Given the description of an element on the screen output the (x, y) to click on. 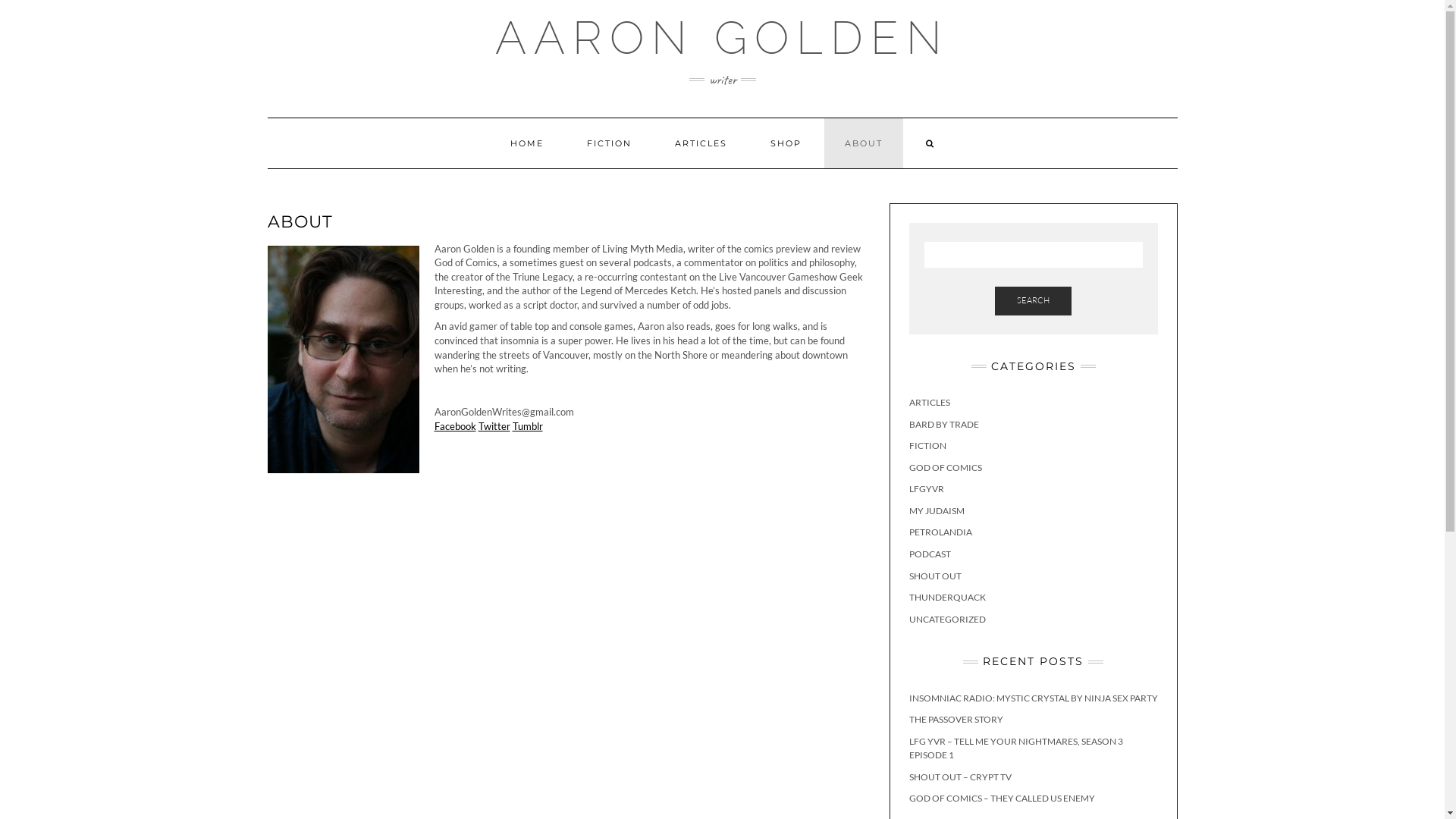
FICTION Element type: text (926, 445)
THE PASSOVER STORY Element type: text (955, 718)
THUNDERQUACK Element type: text (946, 596)
UNCATEGORIZED Element type: text (946, 618)
Tumblr Element type: text (527, 426)
INSOMNIAC RADIO: MYSTIC CRYSTAL BY NINJA SEX PARTY Element type: text (1032, 697)
ARTICLES Element type: text (699, 143)
Skip to content Element type: text (0, 0)
SHOUT OUT Element type: text (934, 575)
FICTION Element type: text (608, 143)
MY JUDAISM Element type: text (935, 510)
BARD BY TRADE Element type: text (943, 423)
Facebook Element type: text (454, 426)
HOME Element type: text (526, 143)
SEARCH Element type: text (1032, 300)
ARTICLES Element type: text (928, 401)
AARON GOLDEN Element type: text (722, 37)
ABOUT Element type: text (862, 143)
SHOP Element type: text (785, 143)
PODCAST Element type: text (929, 553)
LFGYVR Element type: text (925, 488)
GOD OF COMICS Element type: text (944, 467)
Twitter Element type: text (493, 426)
PETROLANDIA Element type: text (939, 531)
